Given the description of an element on the screen output the (x, y) to click on. 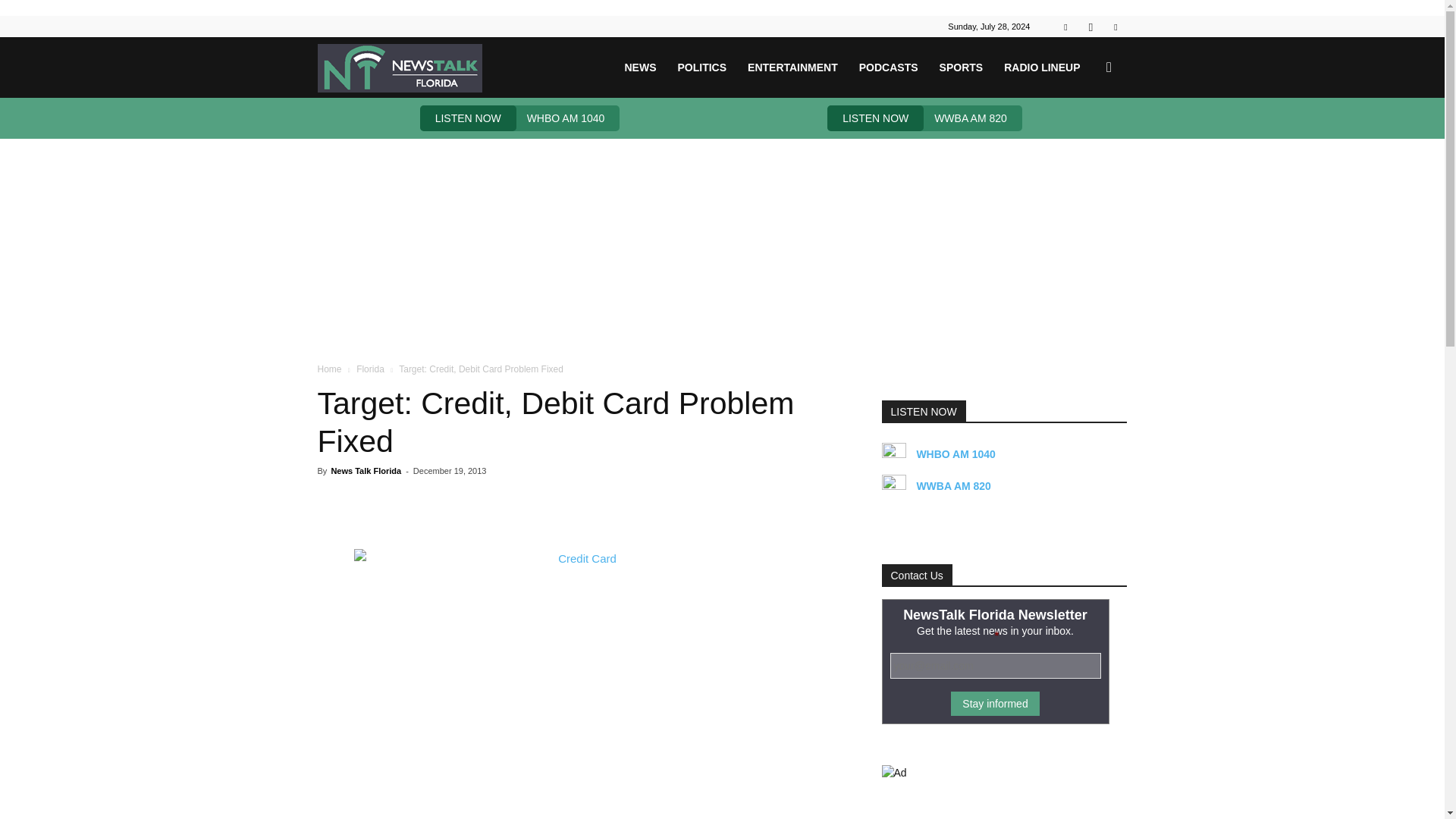
Twitter (1114, 25)
Facebook (1065, 25)
Search (1085, 139)
Stay informed (994, 703)
Instagram (1090, 25)
View all posts in Florida (370, 368)
